Given the description of an element on the screen output the (x, y) to click on. 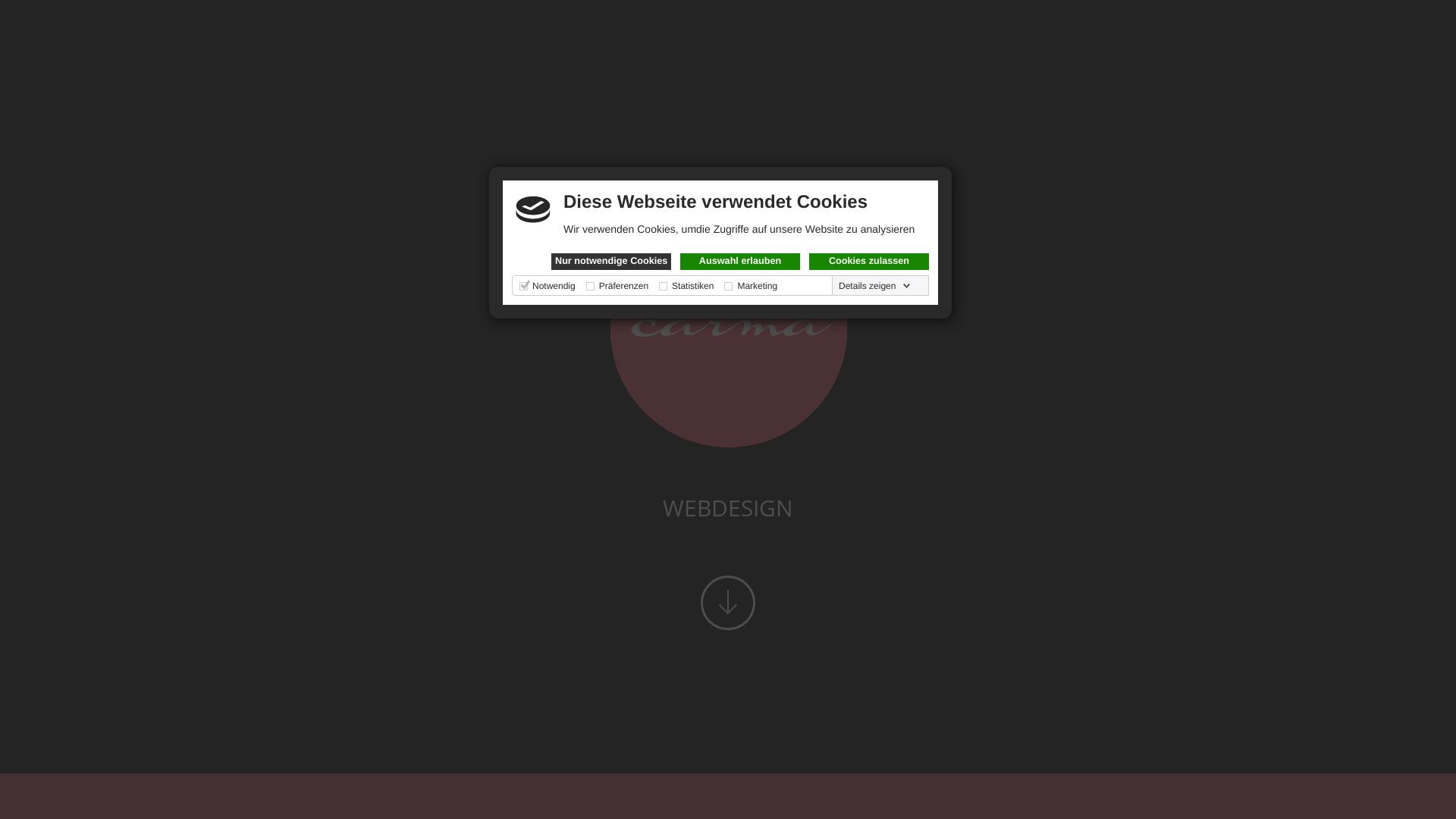
Nur notwendige Cookies Element type: text (611, 261)
Cookies zulassen Element type: text (868, 261)
Details zeigen Element type: text (874, 285)
Auswahl erlauben Element type: text (740, 261)
